Given the description of an element on the screen output the (x, y) to click on. 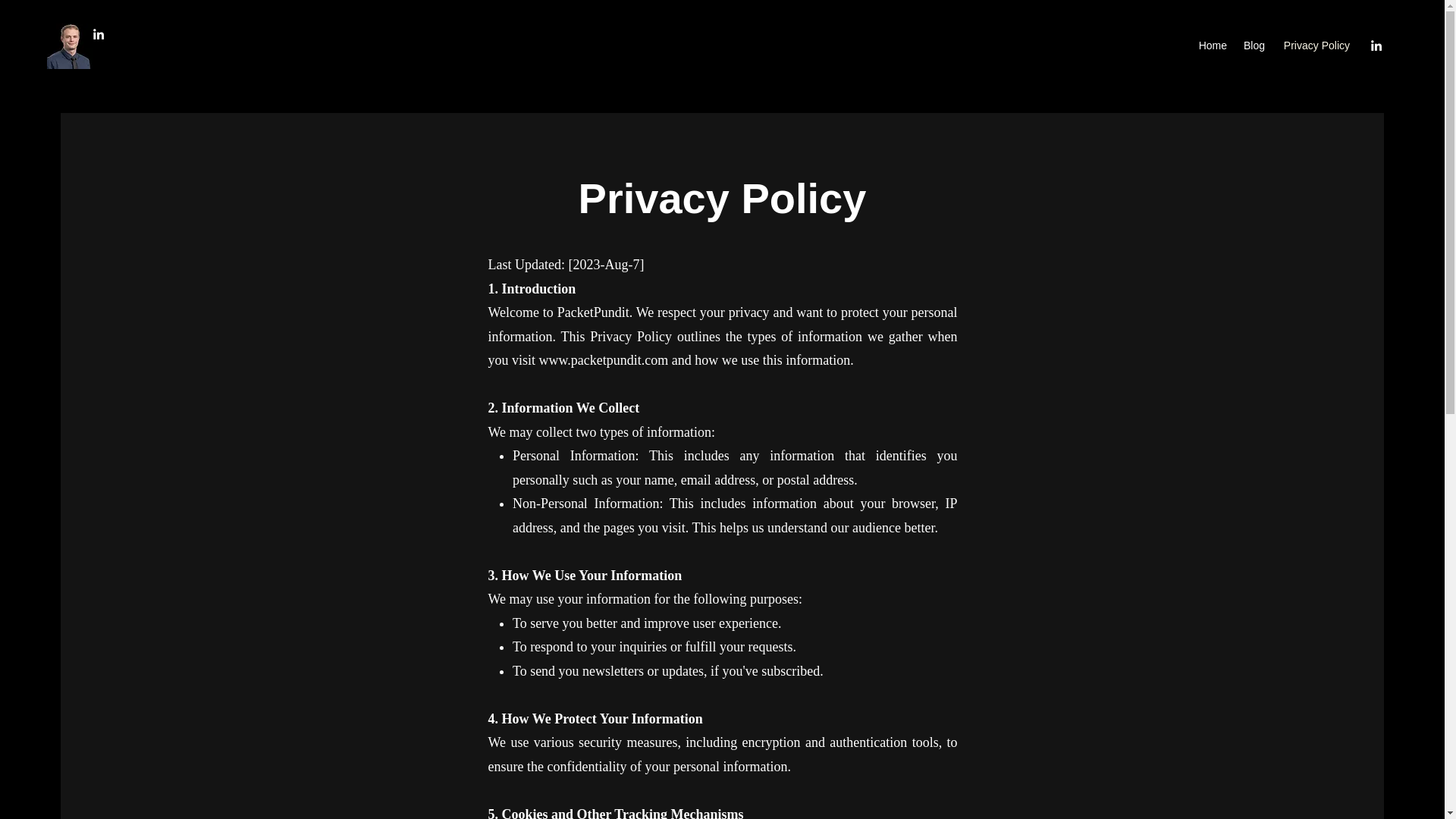
Privacy Policy (1314, 45)
Home (1211, 45)
Blog (1253, 45)
www.packetpundit.com (603, 359)
